Given the description of an element on the screen output the (x, y) to click on. 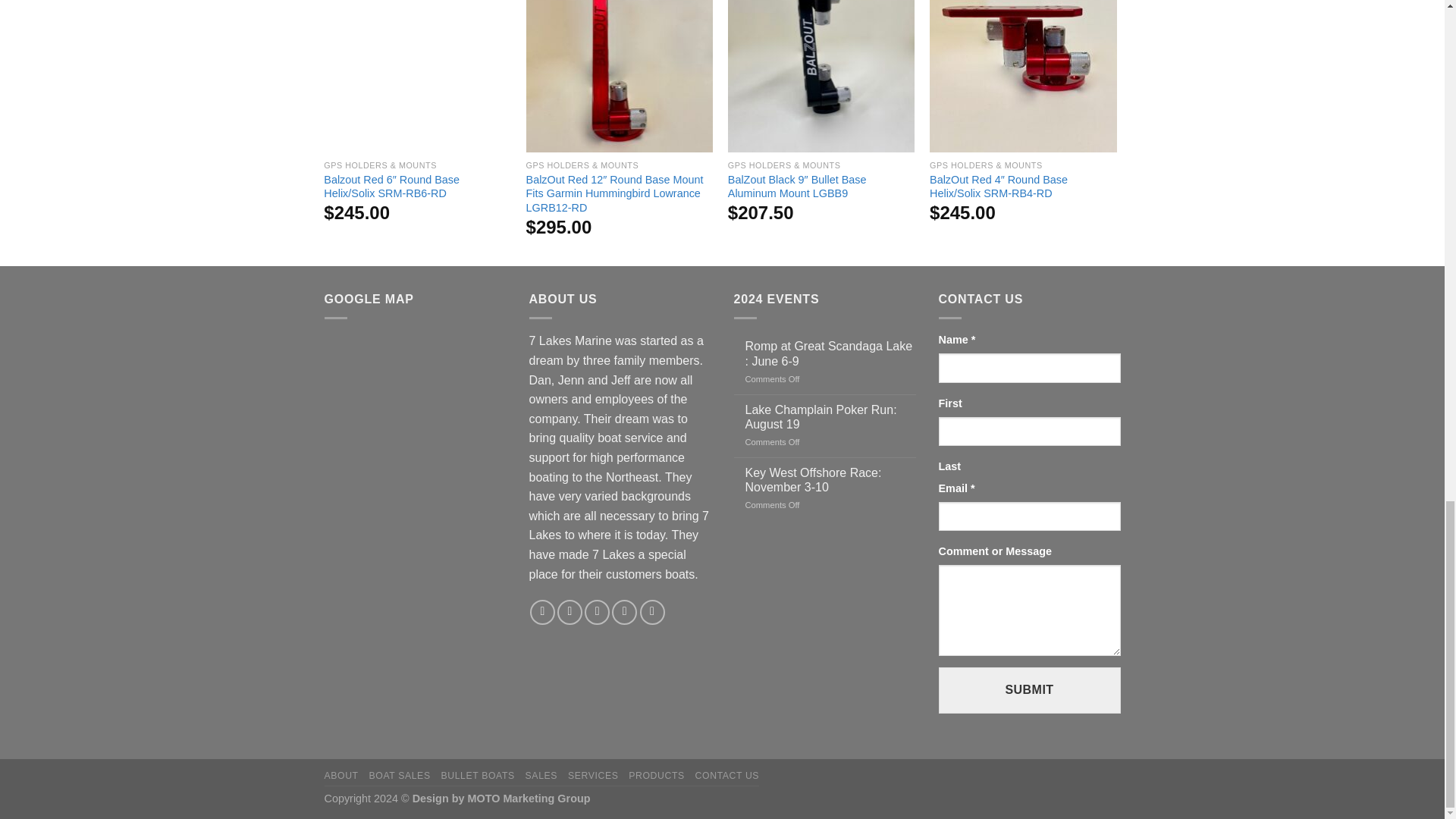
Romp at Great Scandaga Lake : June 6-9 (829, 353)
Follow on Instagram (569, 611)
Follow on YouTube (652, 611)
Call us (624, 611)
Follow on Facebook (541, 611)
Send us an email (597, 611)
